Given the description of an element on the screen output the (x, y) to click on. 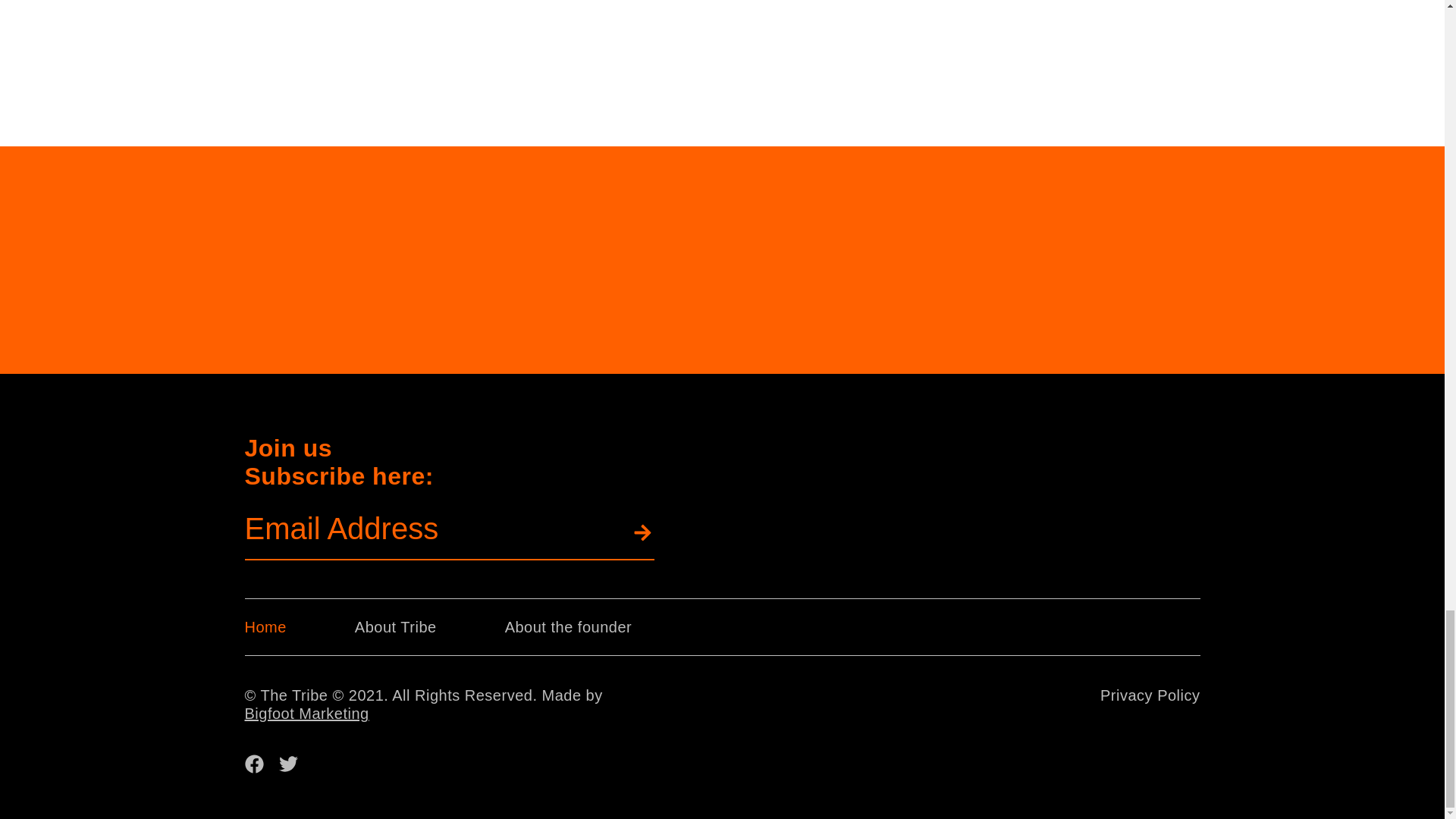
About the founder (568, 626)
About Tribe (395, 626)
Bigfoot Marketing (306, 713)
